Given the description of an element on the screen output the (x, y) to click on. 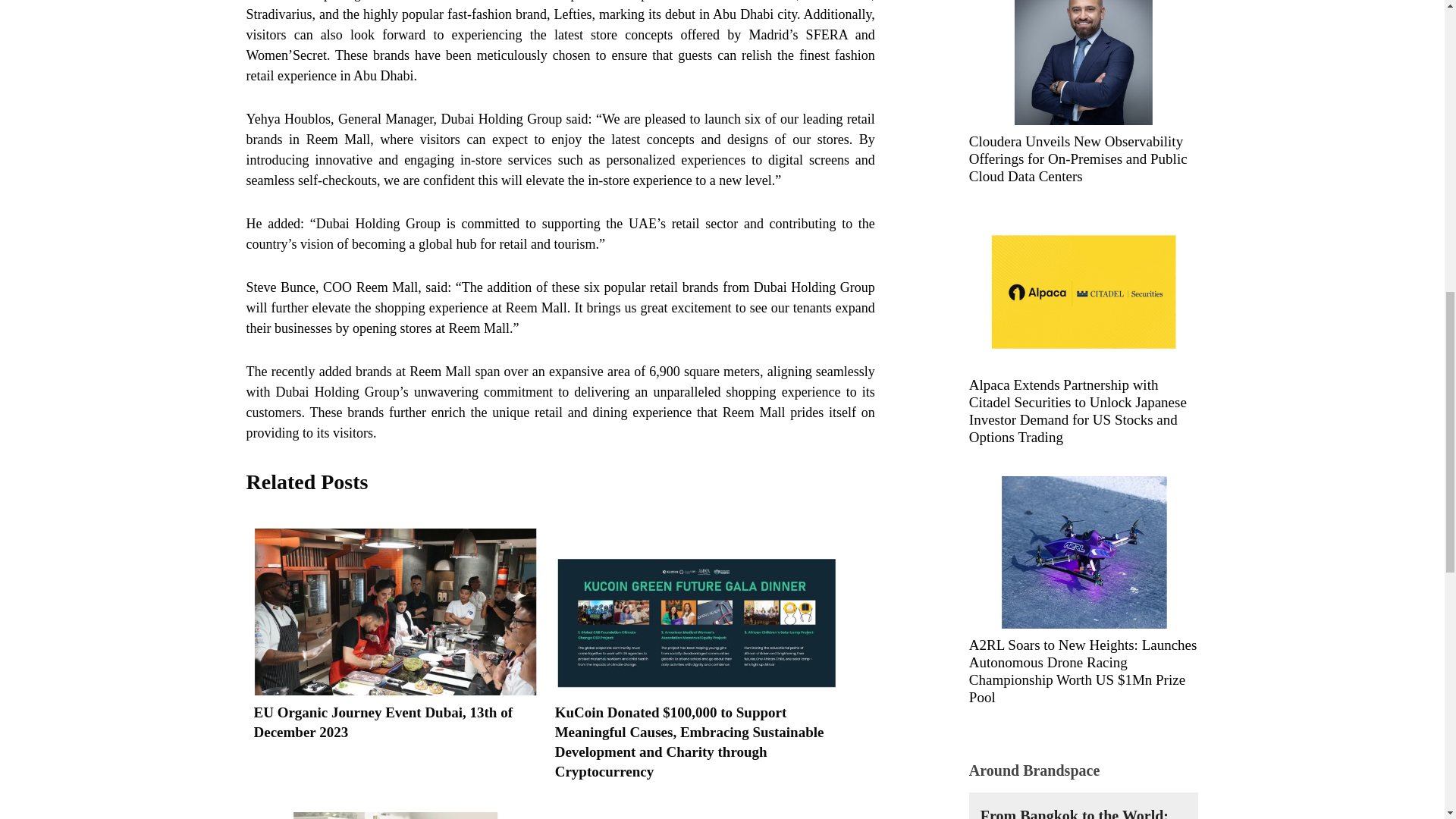
EU Organic Journey Event Dubai, 13th of December 2023 (394, 722)
